Given the description of an element on the screen output the (x, y) to click on. 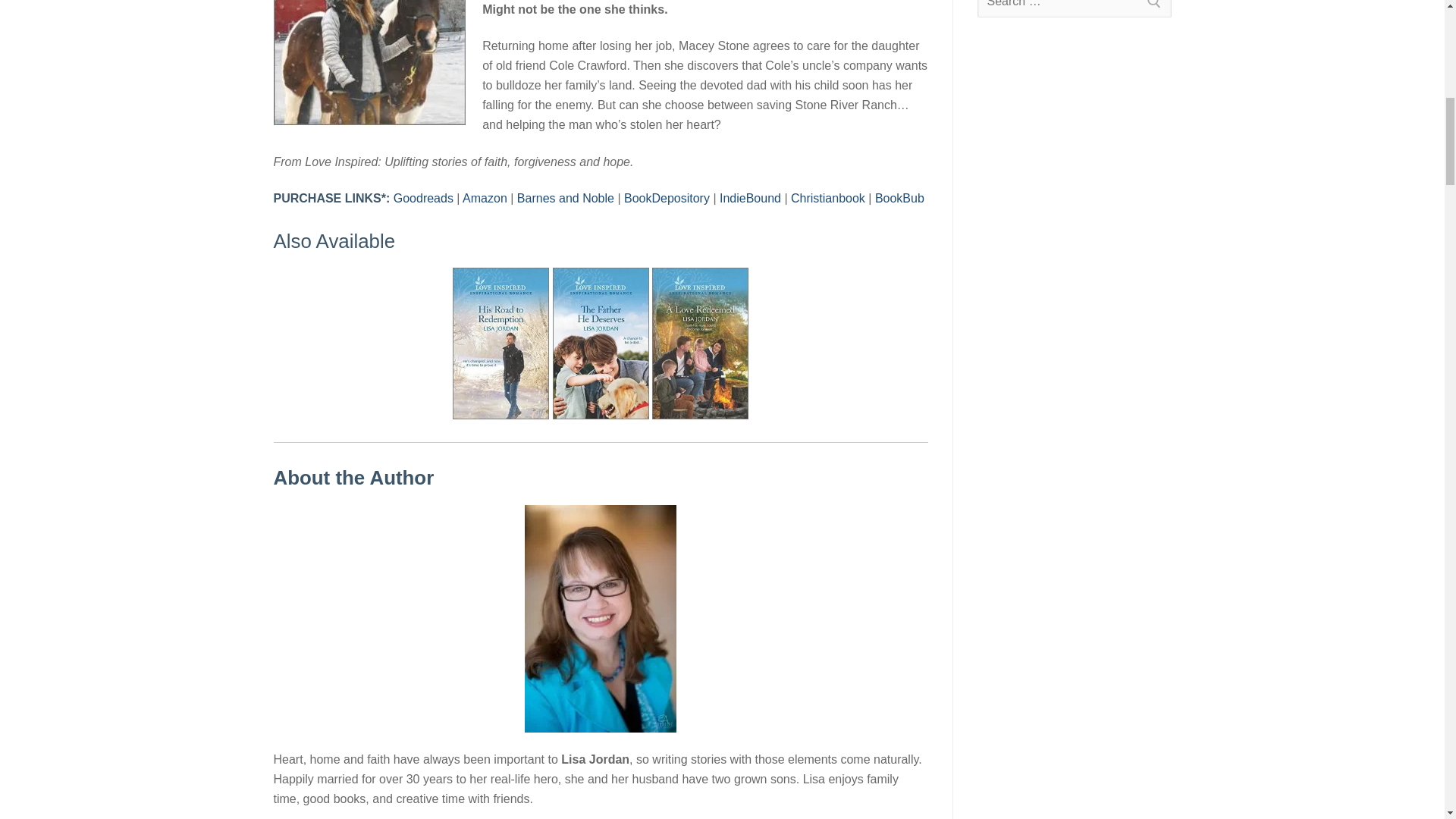
BookDepository (667, 197)
Christianbook (827, 197)
Search for: (1073, 8)
Barnes and Noble (565, 197)
Amazon (484, 197)
IndieBound (749, 197)
BookBub (899, 197)
Goodreads (422, 197)
